Given the description of an element on the screen output the (x, y) to click on. 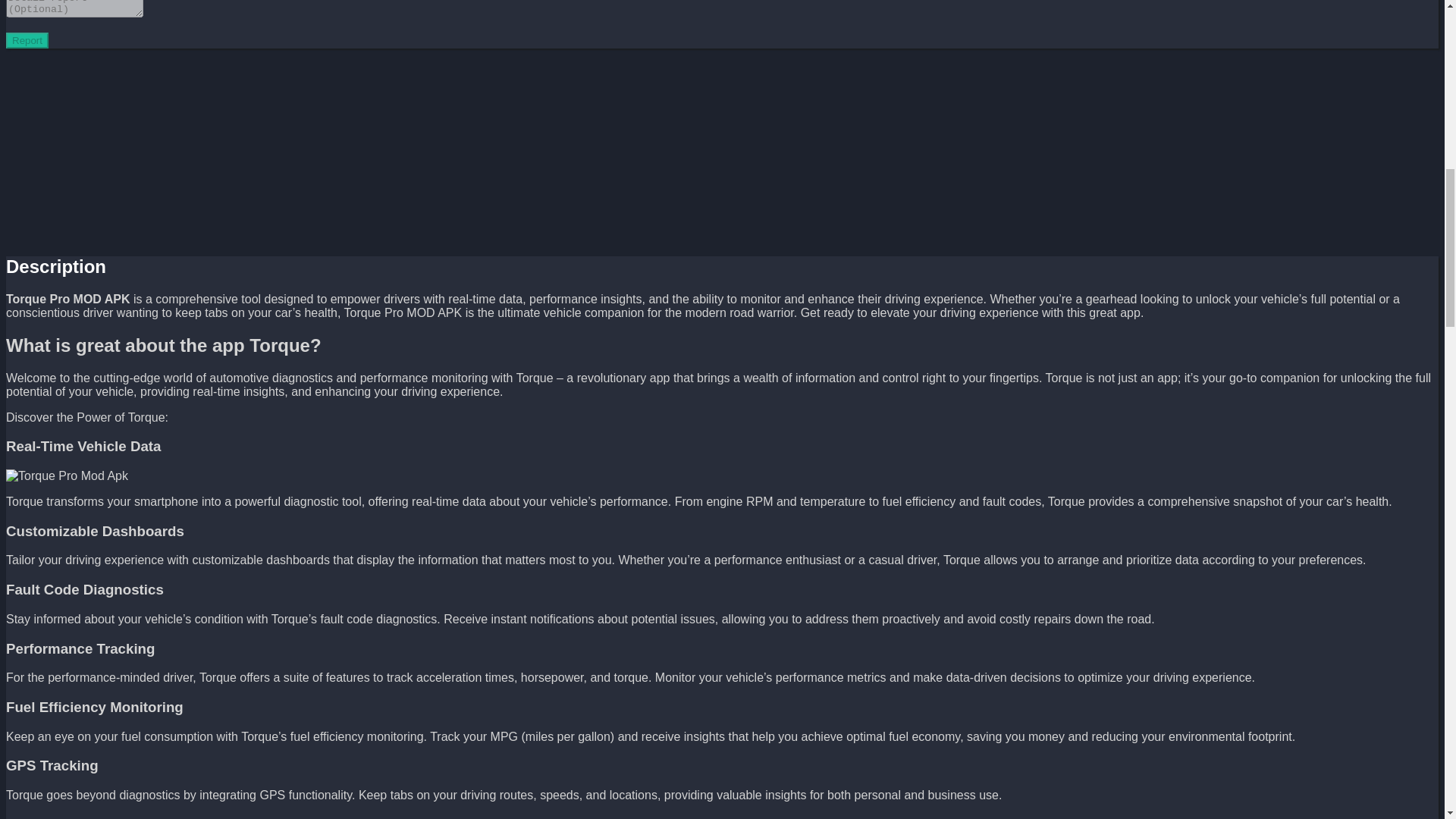
Report (26, 40)
Torque Pro Apk Mod 2 (66, 476)
Report (26, 40)
